Given the description of an element on the screen output the (x, y) to click on. 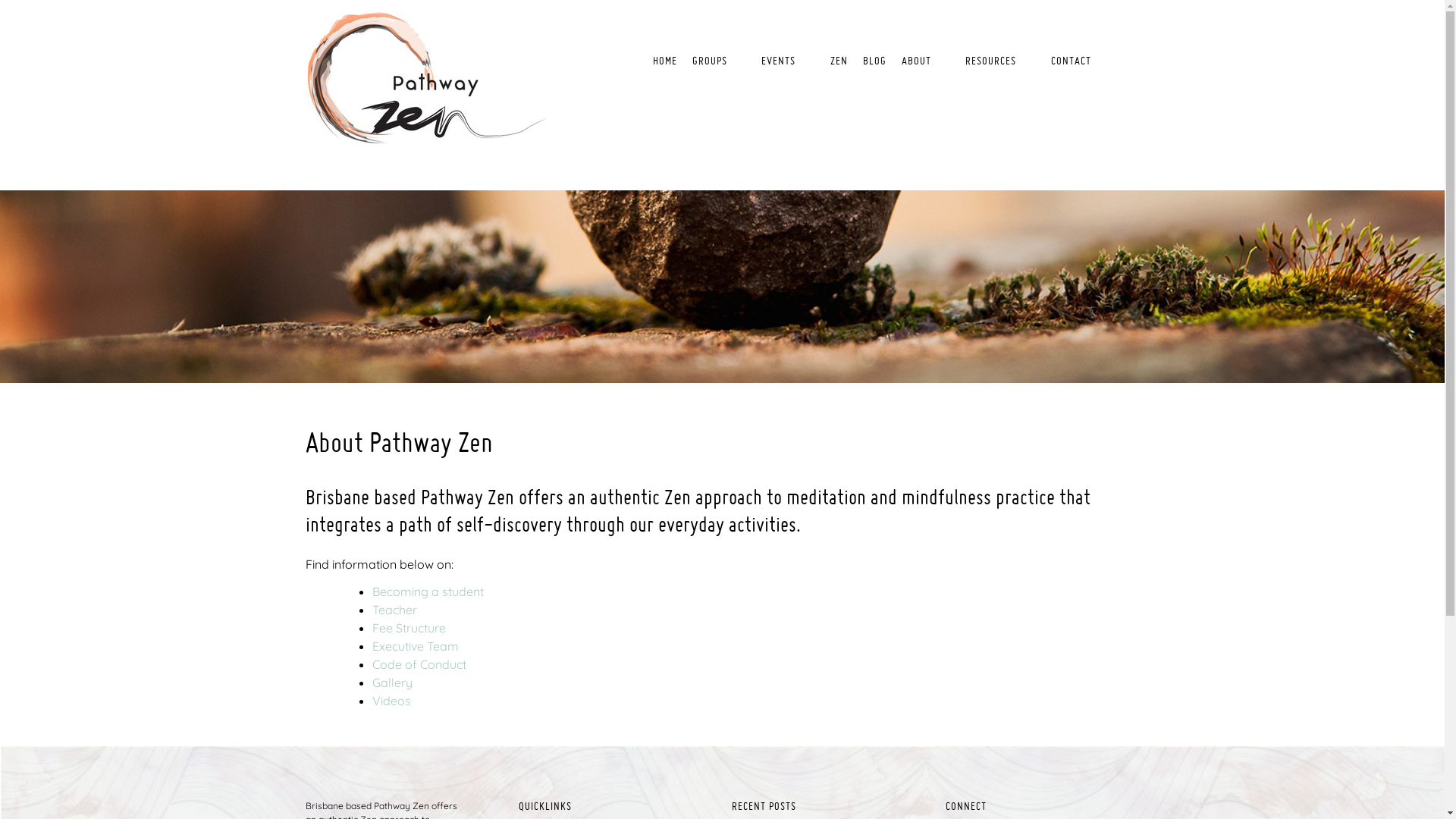
GROUPS Element type: text (713, 60)
HOME Element type: text (664, 60)
Fee Structure Element type: text (408, 627)
CONTACT Element type: text (1071, 60)
BLOG Element type: text (874, 60)
EVENTS Element type: text (782, 60)
Videos Element type: text (390, 700)
ZEN Element type: text (838, 60)
Code of Conduct Element type: text (418, 663)
ABOUT Element type: text (919, 60)
Teacher Element type: text (393, 609)
Skip to content Element type: text (0, 0)
Becoming a student Element type: text (427, 591)
RESOURCES Element type: text (994, 60)
Executive Team Element type: text (414, 645)
Gallery Element type: text (391, 682)
